Given the description of an element on the screen output the (x, y) to click on. 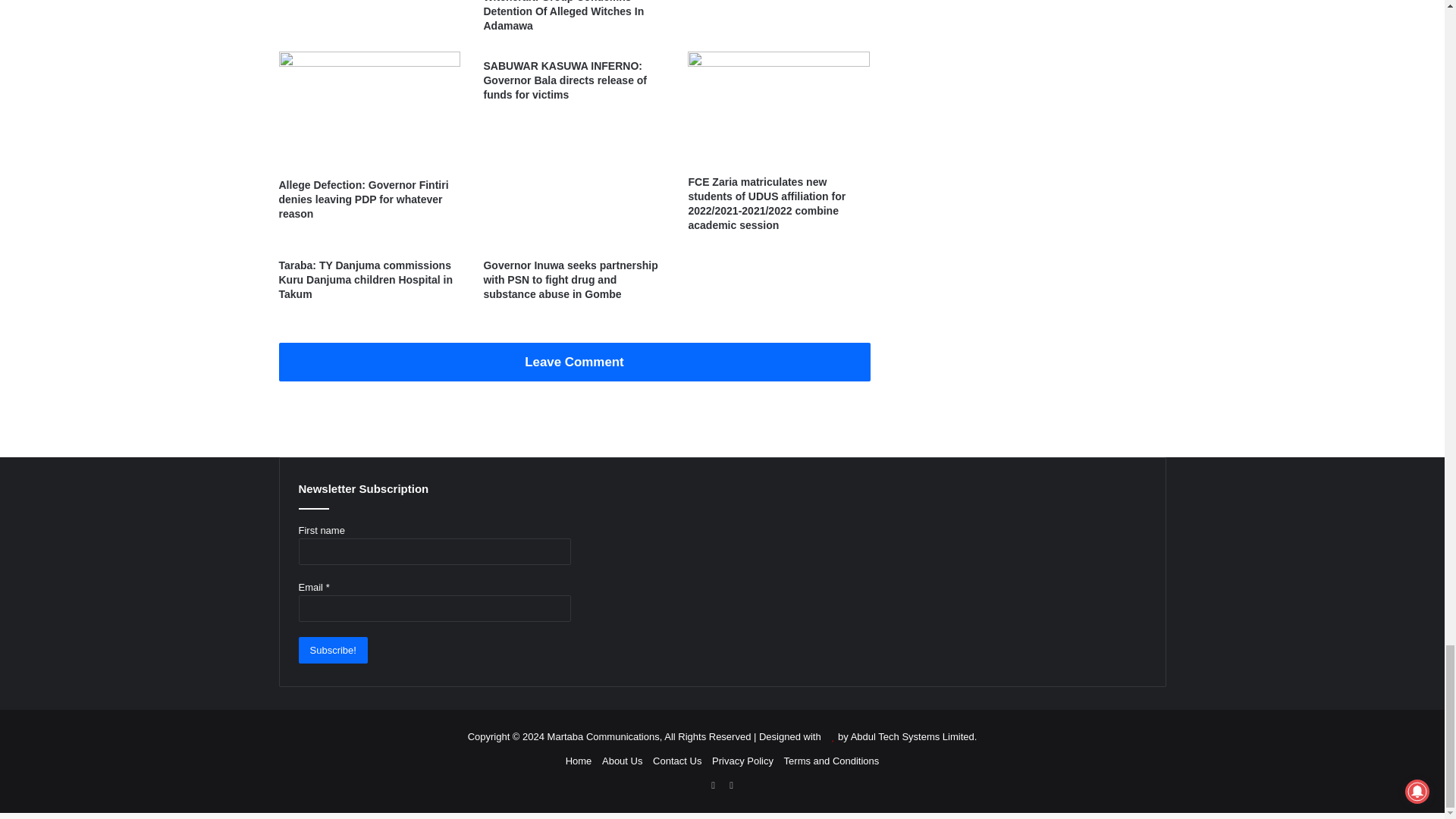
Subscribe! (333, 650)
